Given the description of an element on the screen output the (x, y) to click on. 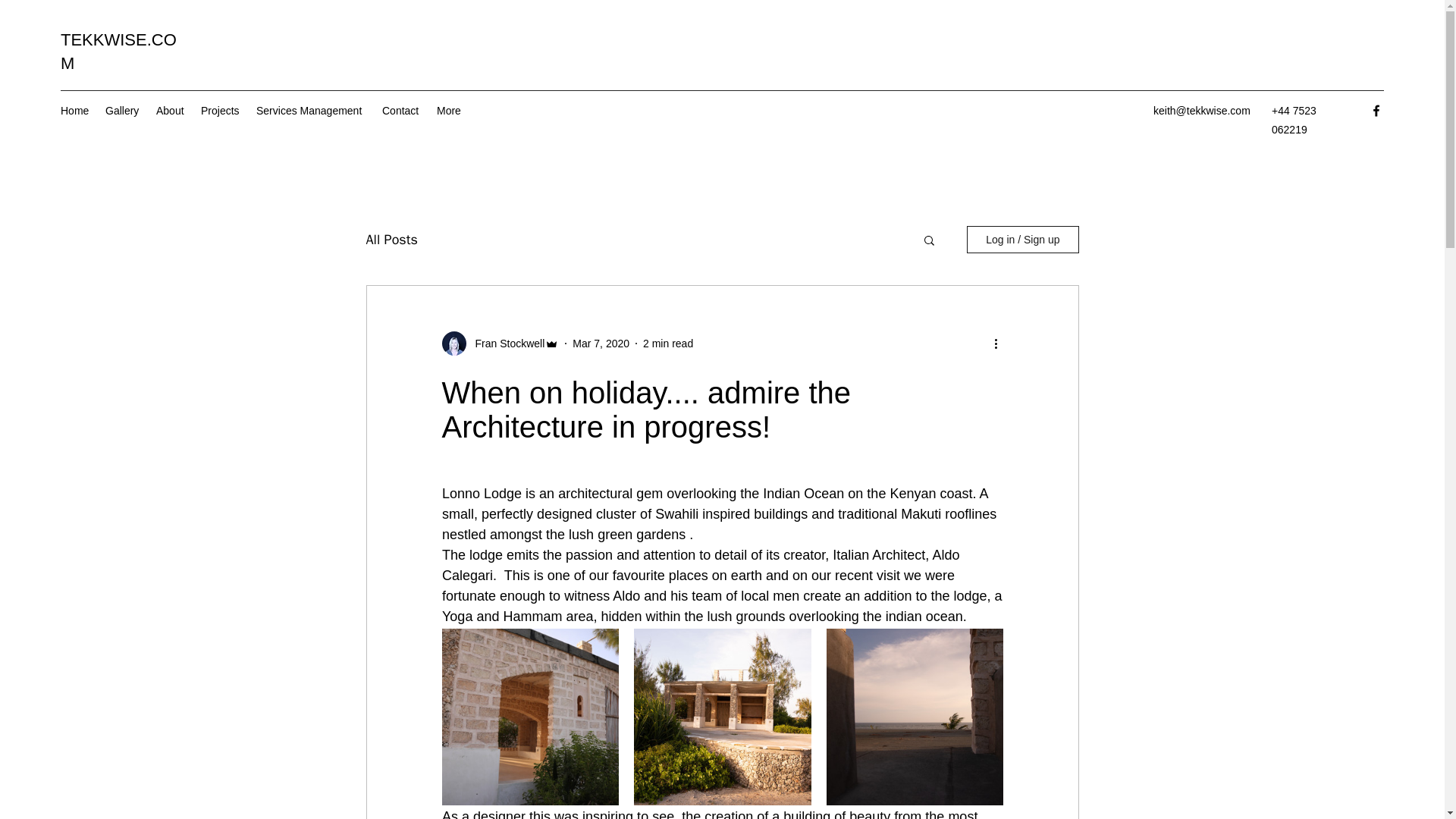
Mar 7, 2020 (600, 343)
2 min read (668, 343)
Services Management (311, 110)
Fran Stockwell (504, 343)
All Posts (390, 239)
Gallery (122, 110)
Home (74, 110)
Projects (220, 110)
Contact (401, 110)
About (170, 110)
